Given the description of an element on the screen output the (x, y) to click on. 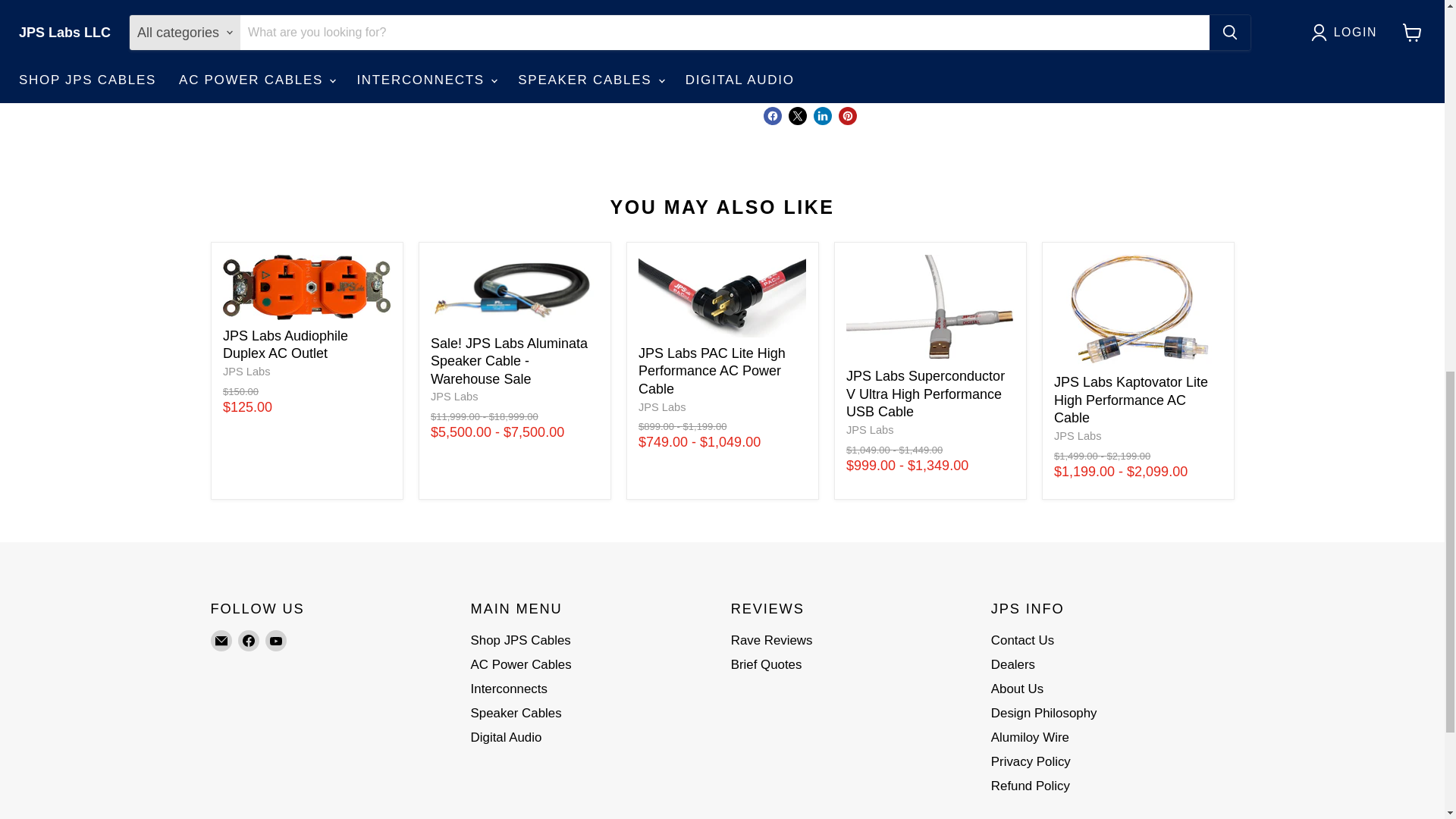
JPS Labs (1078, 435)
Facebook (248, 640)
JPS Labs (662, 407)
Email (221, 640)
JPS Labs (246, 371)
JPS Labs (454, 396)
YouTube (275, 640)
JPS Labs (869, 429)
